Given the description of an element on the screen output the (x, y) to click on. 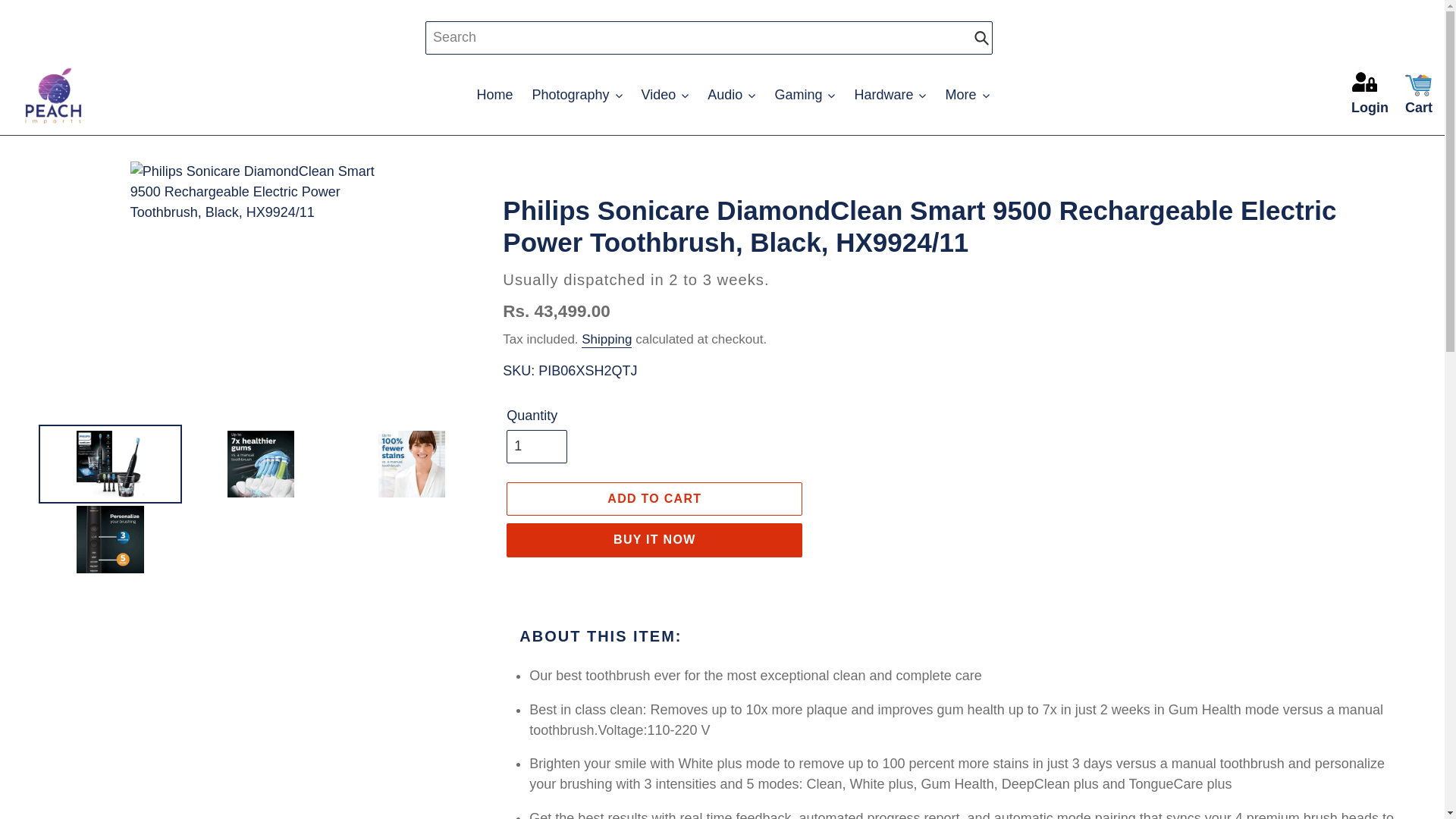
1 (536, 446)
Photography (577, 94)
Video (665, 94)
Home (493, 94)
Hardware (889, 94)
Submit (981, 37)
Close search (1009, 37)
More (966, 94)
Gaming (805, 94)
Audio (731, 94)
